Given the description of an element on the screen output the (x, y) to click on. 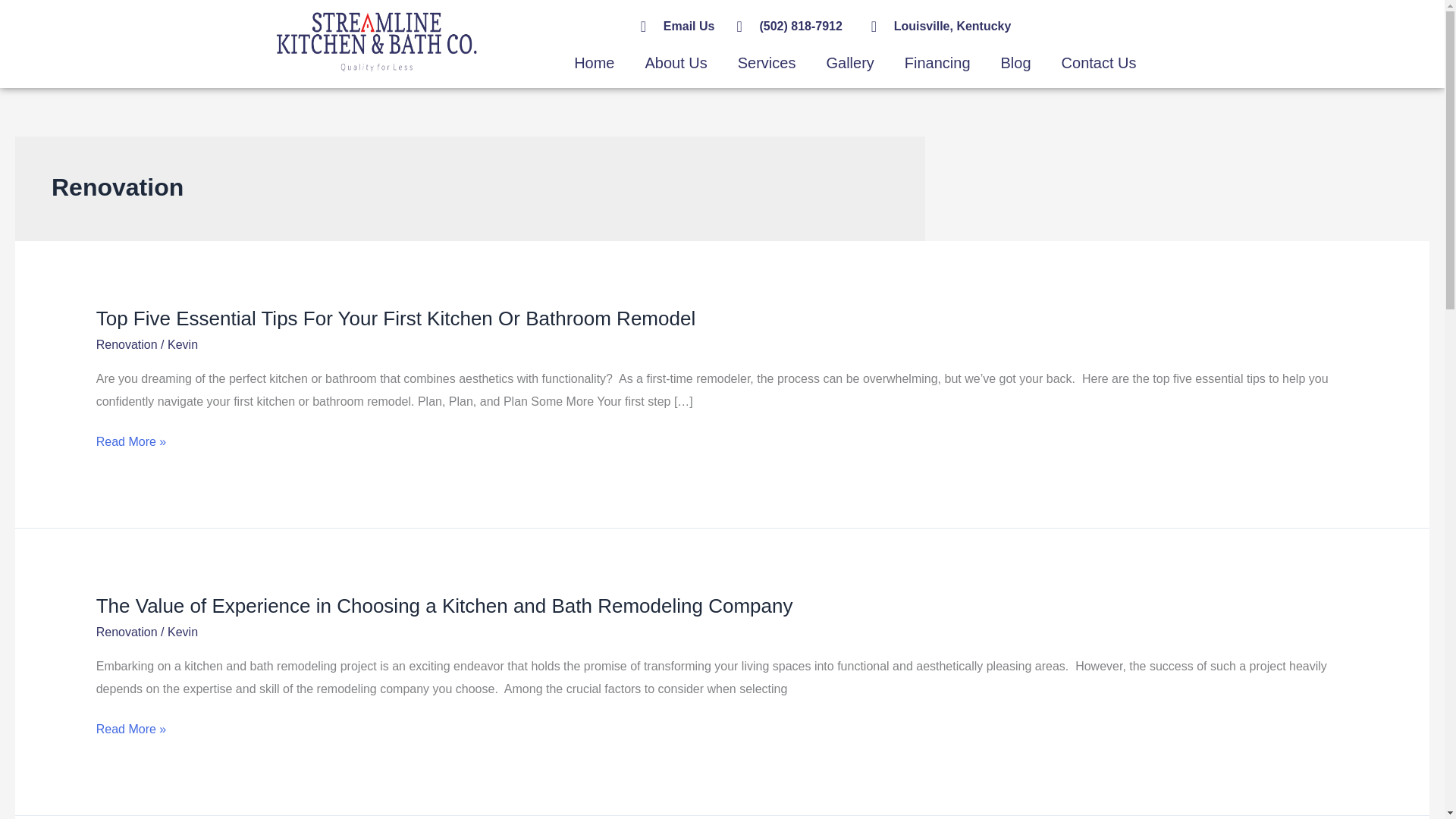
View all posts by Kevin (182, 631)
Gallery (849, 62)
Home (593, 62)
Email Us (681, 26)
About Us (675, 62)
Services (766, 62)
Contact Us (1098, 62)
Financing (937, 62)
View all posts by Kevin (182, 344)
Louisville, Kentucky (1007, 26)
Blog (1015, 62)
